Given the description of an element on the screen output the (x, y) to click on. 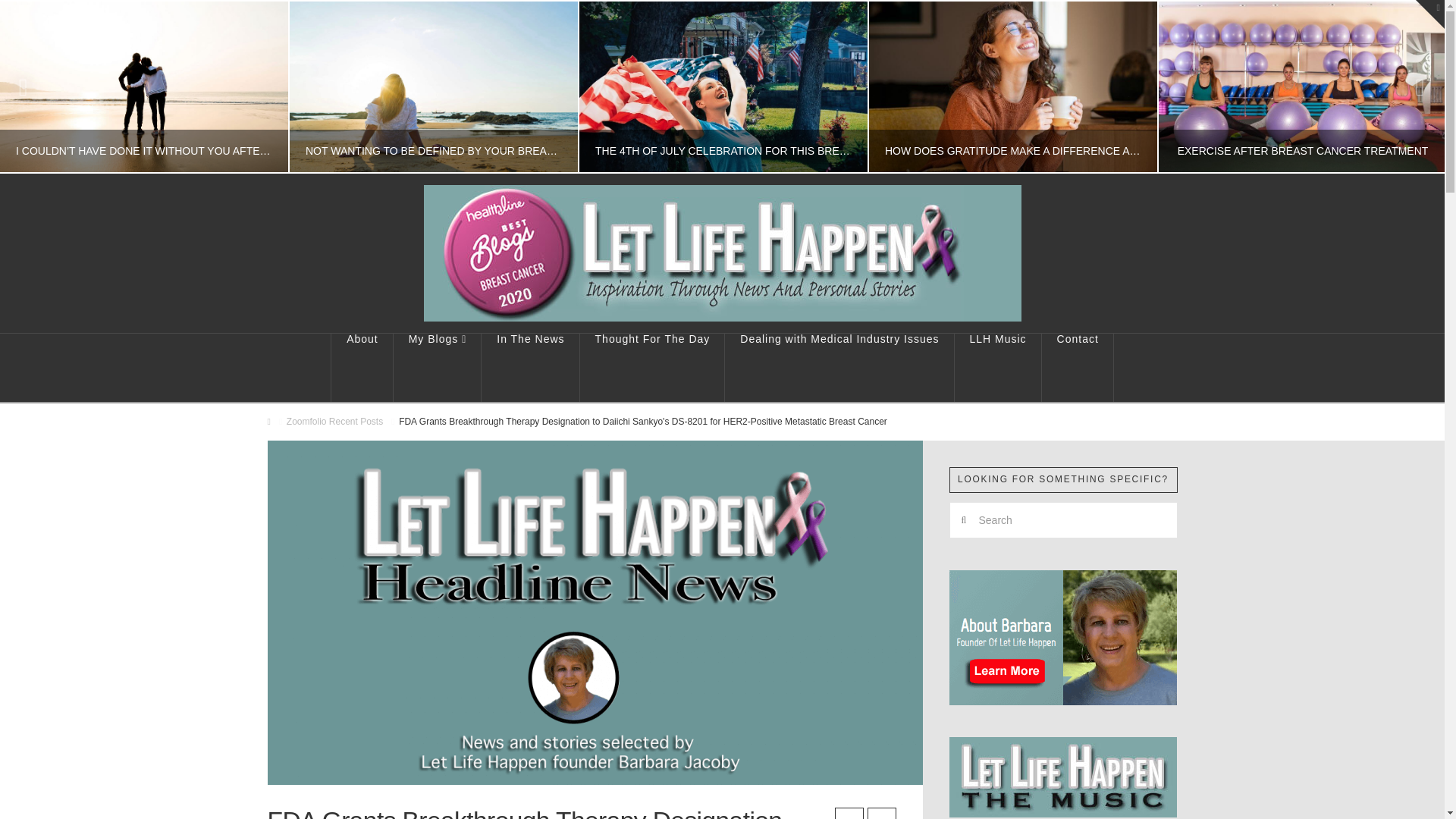
In The News (530, 367)
LLH Music (998, 367)
Contact (1077, 367)
Previous (31, 86)
NOT WANTING TO BE DEFINED BY YOUR BREAST CANCER (433, 86)
About (361, 367)
THE 4TH OF JULY CELEBRATION FOR THIS BREAST CANCER SURVIVOR (722, 86)
Thought For The Day (652, 367)
My Blogs (437, 367)
Dealing with Medical Industry Issues (839, 367)
You Are Here (642, 421)
